Given the description of an element on the screen output the (x, y) to click on. 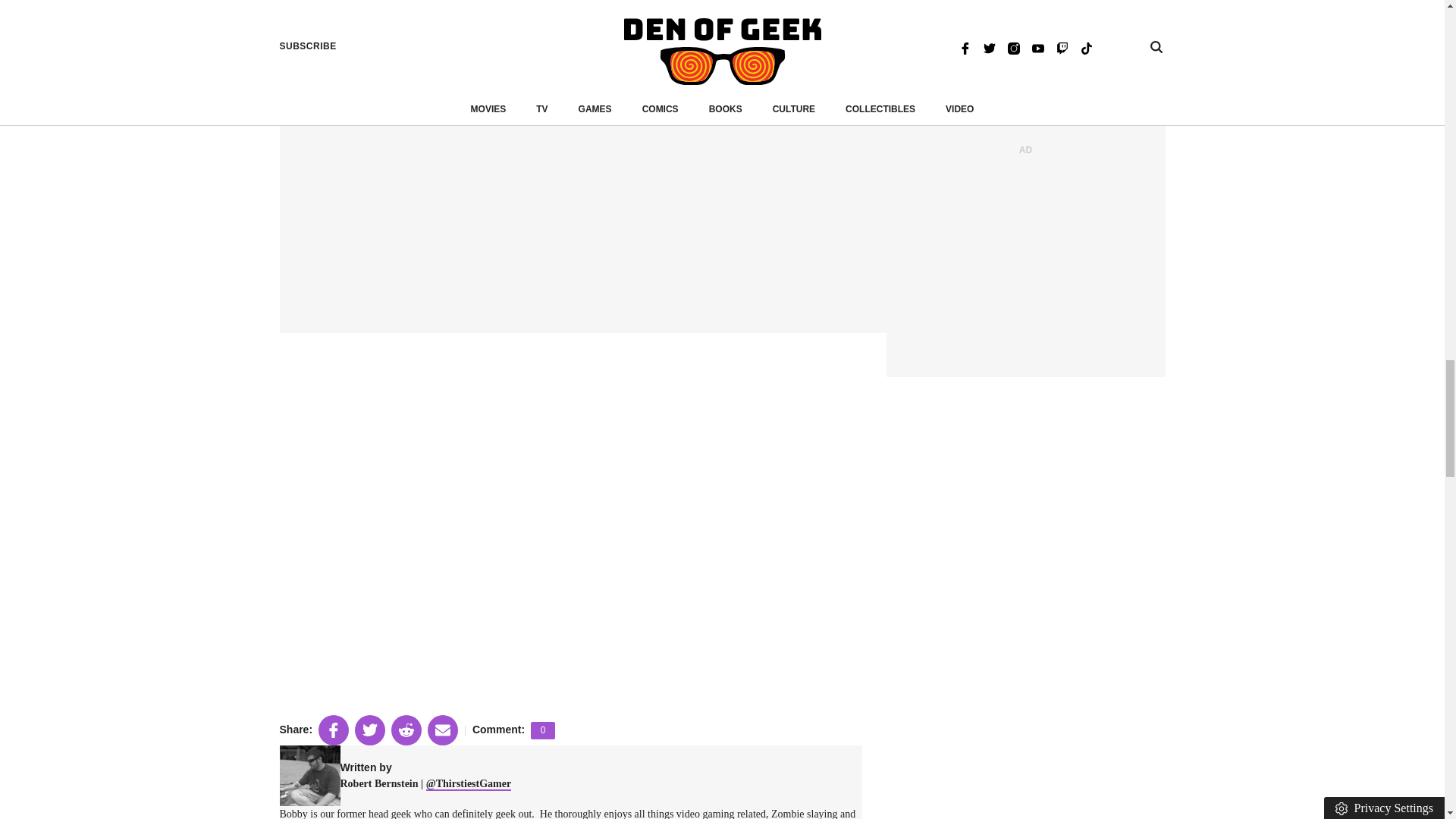
Twitter (508, 43)
Facebook (366, 43)
